Given the description of an element on the screen output the (x, y) to click on. 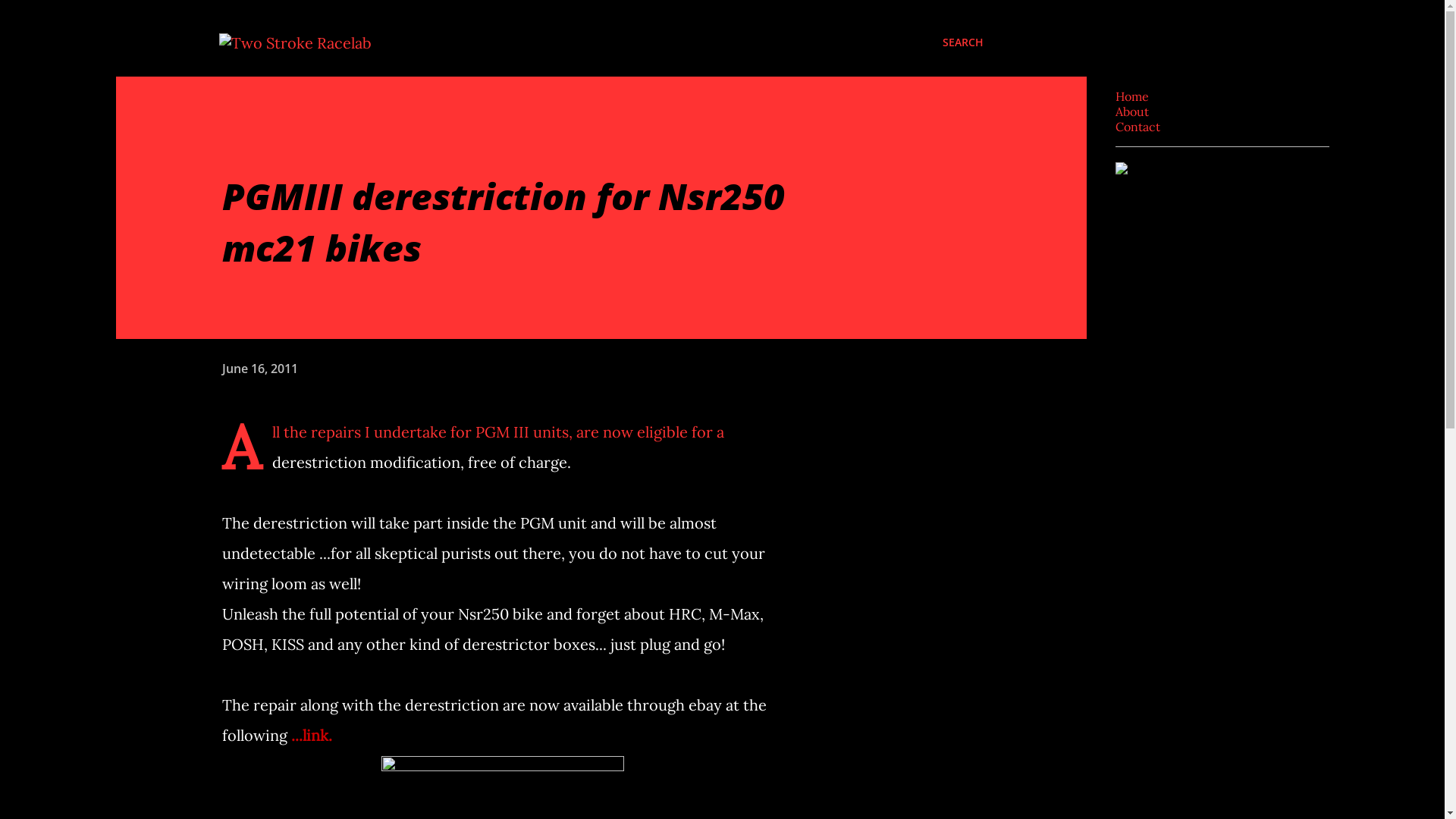
About Element type: text (1131, 111)
June 16, 2011 Element type: text (259, 367)
...link. Element type: text (311, 734)
Home Element type: text (1131, 95)
Contact Element type: text (1136, 126)
SEARCH Element type: text (961, 42)
